Given the description of an element on the screen output the (x, y) to click on. 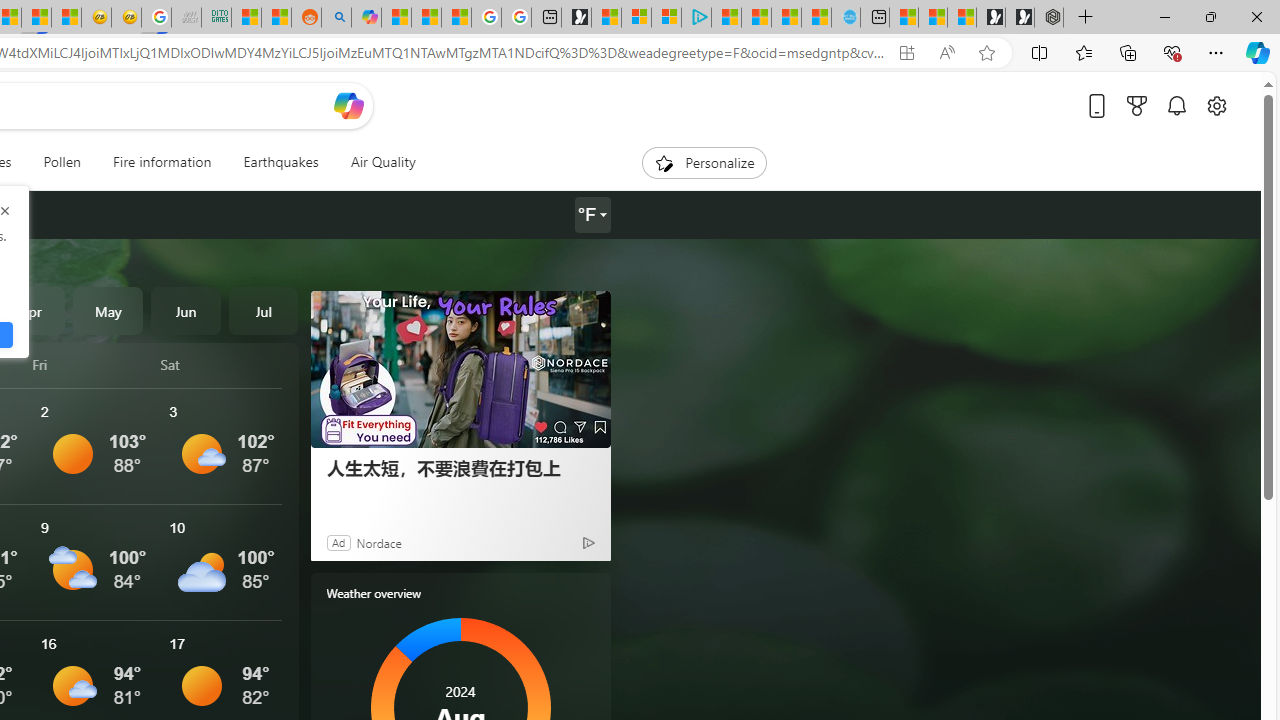
Air Quality (382, 162)
Earthquakes (280, 162)
Utah sues federal government - Search (336, 17)
